Given the description of an element on the screen output the (x, y) to click on. 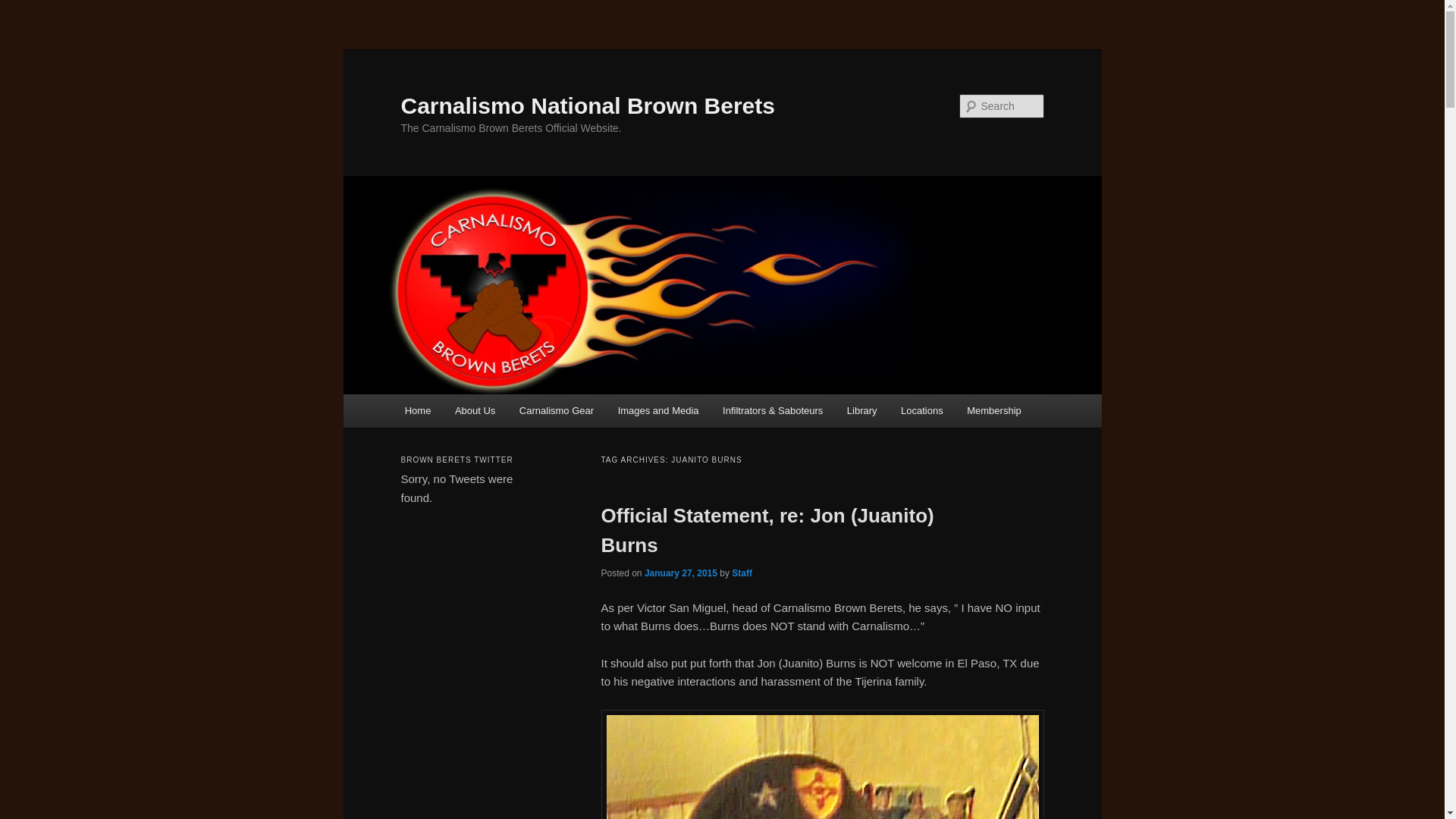
Library (861, 409)
Membership (993, 409)
Home (417, 409)
Carnalismo National Brown Berets (587, 105)
Staff (742, 573)
January 27, 2015 (681, 573)
About Us (474, 409)
View all posts by Staff (742, 573)
Carnalismo Gear (555, 409)
4:13 pm (681, 573)
Search (24, 8)
Locations (921, 409)
Images and Media (657, 409)
